Given the description of an element on the screen output the (x, y) to click on. 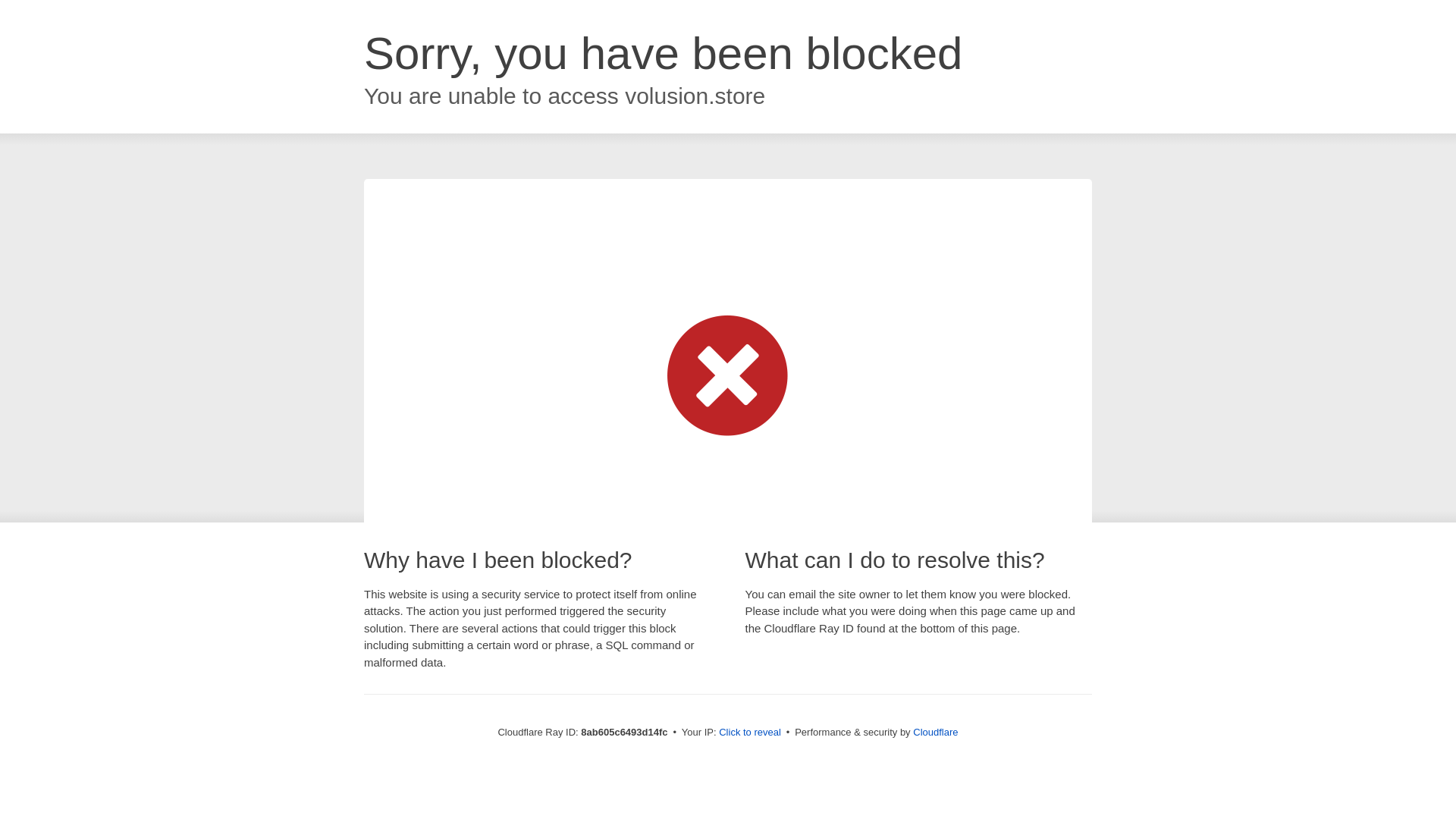
Cloudflare (935, 731)
Click to reveal (749, 732)
